Given the description of an element on the screen output the (x, y) to click on. 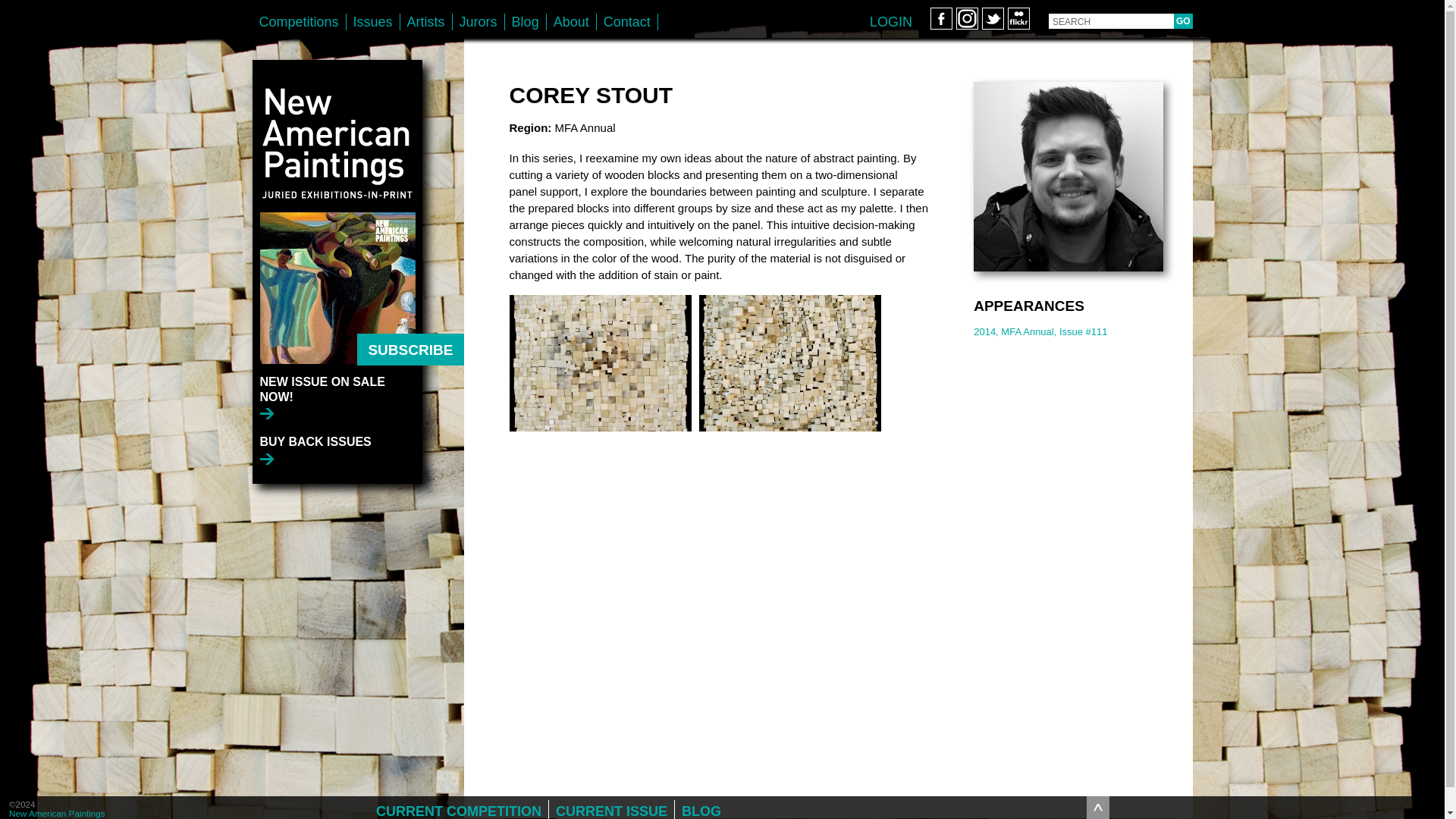
Contact (627, 21)
Artists (425, 21)
About (571, 21)
Blog (525, 21)
toggle (1097, 807)
BLOG (701, 809)
Login (890, 21)
New issue on sale now! (340, 396)
Subscribe (409, 349)
Competitions (298, 21)
